Given the description of an element on the screen output the (x, y) to click on. 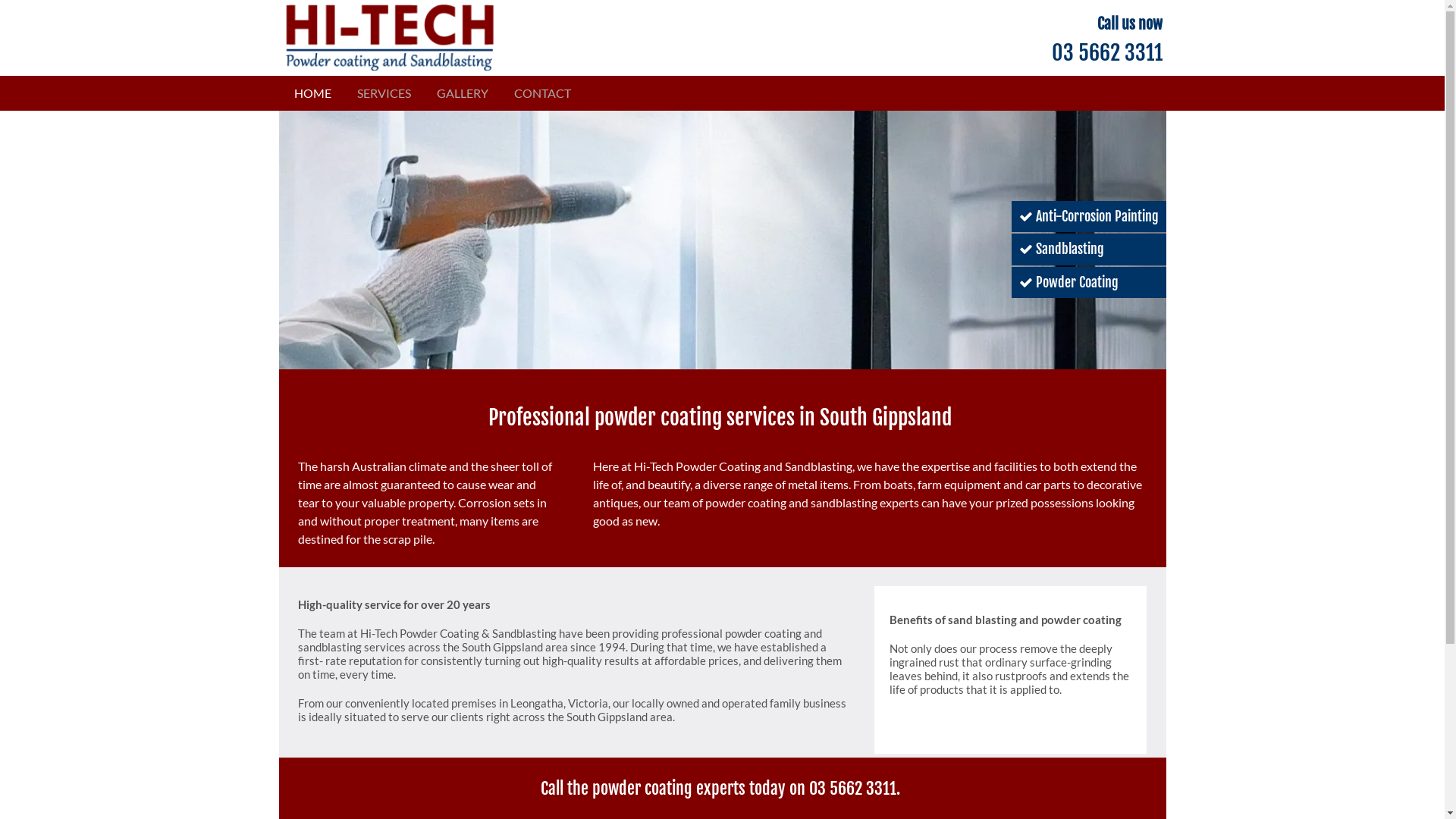
03 5662 3311 Element type: text (1106, 52)
hi tech powder coating and sandblasting logo Element type: hover (389, 37)
HOME Element type: text (312, 93)
03 5662 3311 Element type: text (852, 788)
CONTACT Element type: text (542, 93)
GALLERY Element type: text (462, 93)
SERVICES Element type: text (383, 93)
hi tech powder coating and sandblasting powder coating  Element type: hover (722, 239)
